Given the description of an element on the screen output the (x, y) to click on. 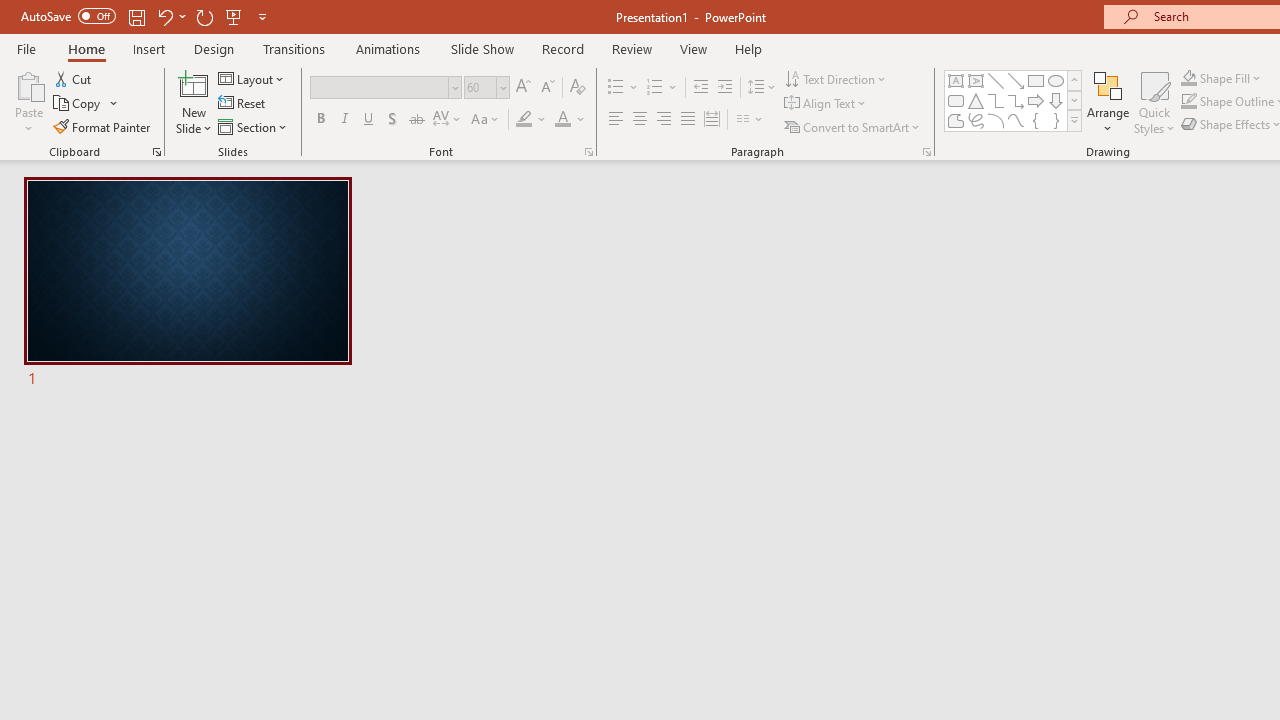
Slide (187, 284)
Record (562, 48)
Home (86, 48)
Arrow: Down (1055, 100)
Customize Quick Access Toolbar (262, 15)
Isosceles Triangle (975, 100)
Quick Styles (1154, 102)
Italic (344, 119)
Shape Outline Blue, Accent 1 (1188, 101)
Arc (995, 120)
Undo (164, 15)
Align Right (663, 119)
Shadow (392, 119)
Oval (1055, 80)
Open (502, 87)
